Given the description of an element on the screen output the (x, y) to click on. 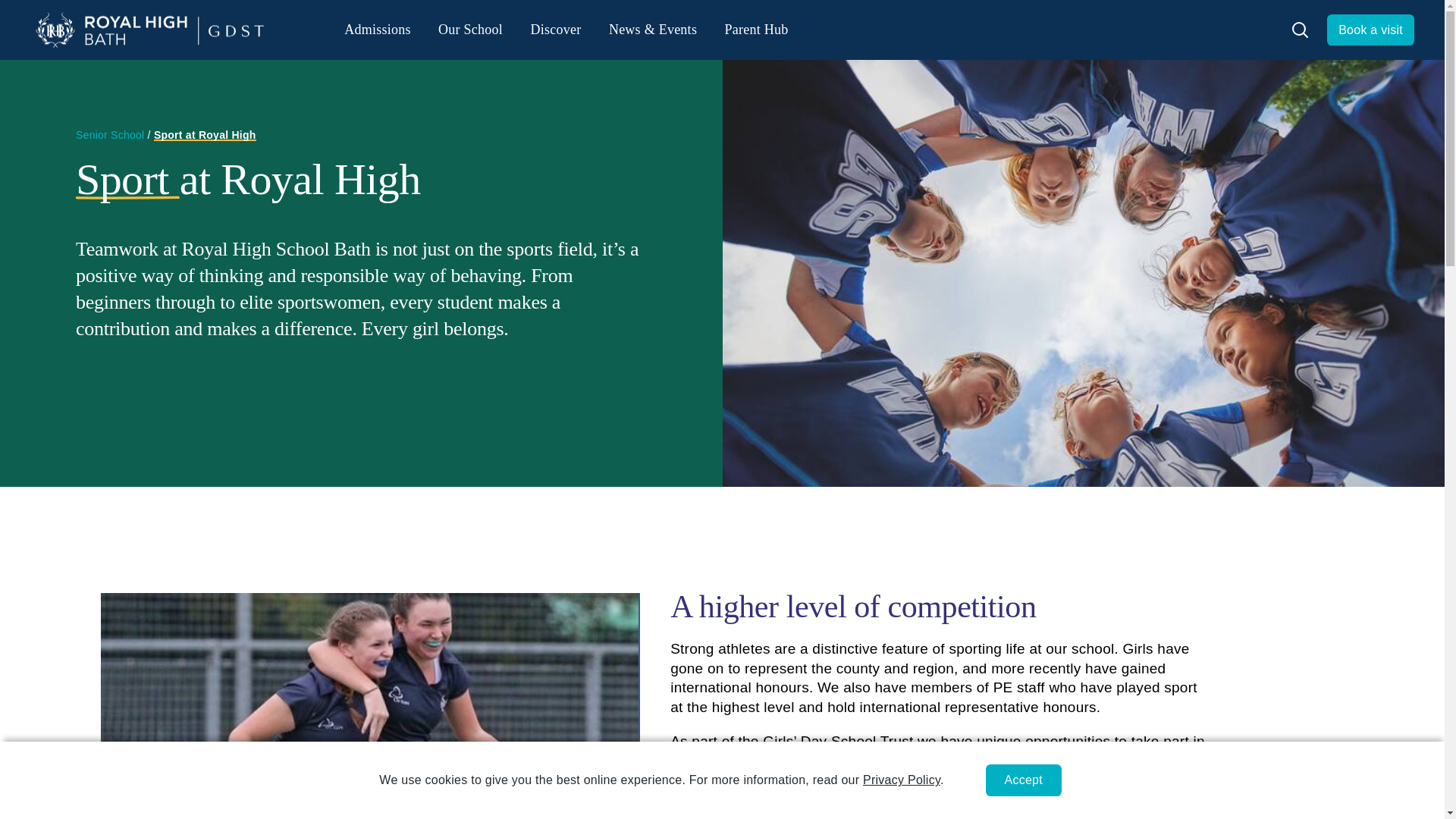
Admissions (377, 29)
Our School (469, 29)
Admissions (377, 29)
Our School (469, 29)
